Given the description of an element on the screen output the (x, y) to click on. 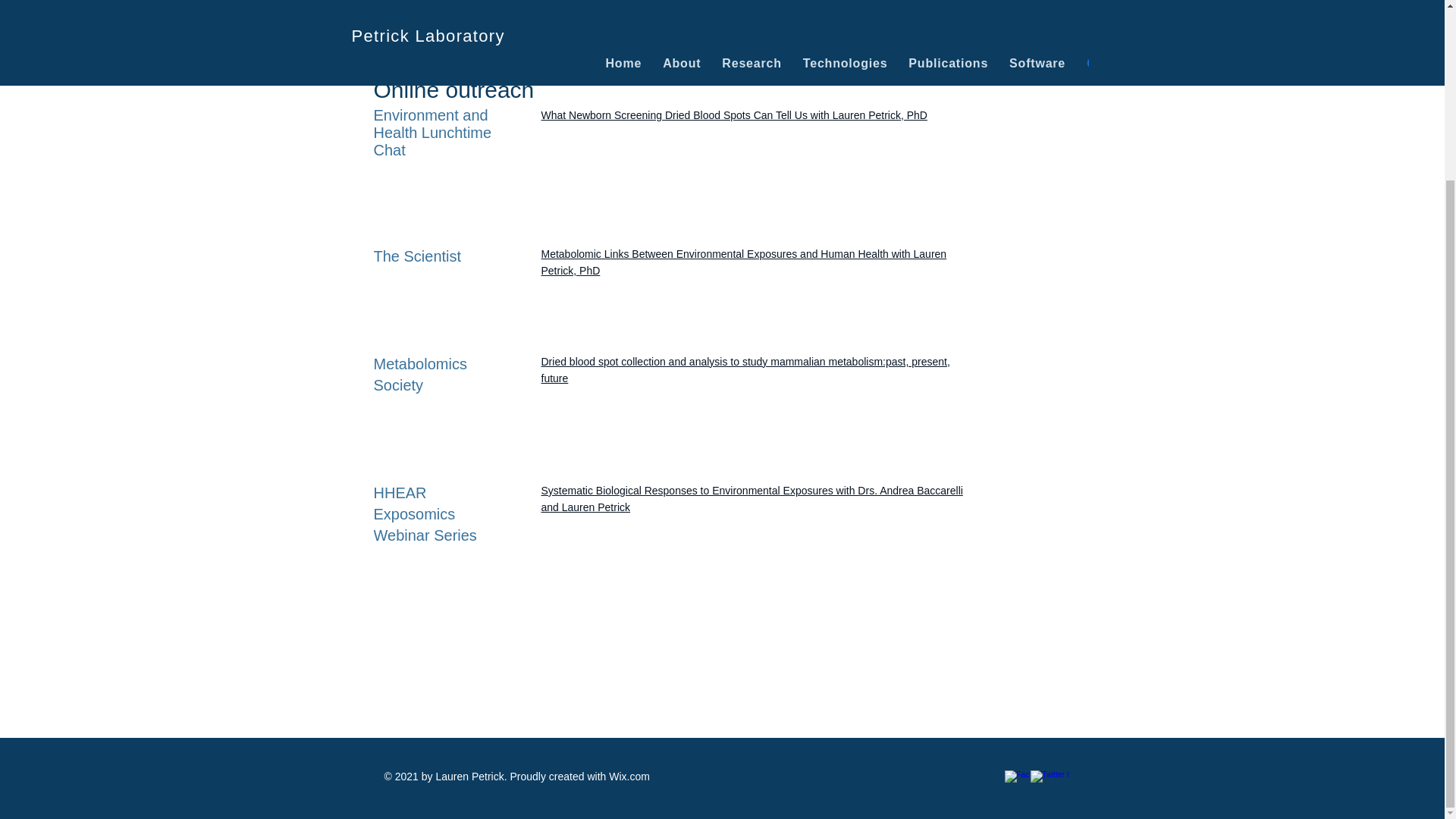
Wix.com (628, 776)
